Given the description of an element on the screen output the (x, y) to click on. 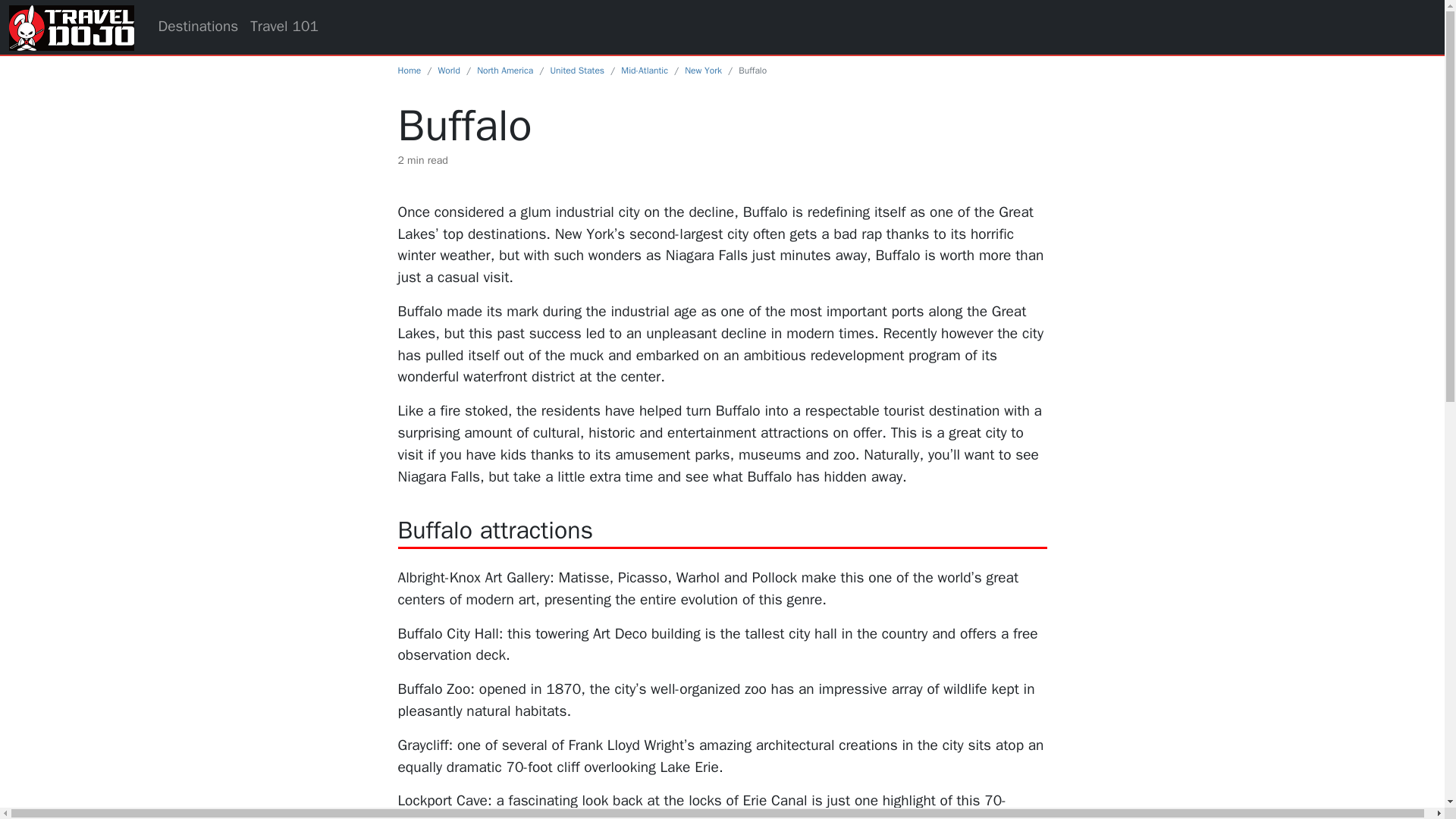
North America (504, 70)
Home (408, 70)
New York (703, 70)
United States (577, 70)
World (449, 70)
Travel 101 (284, 26)
Destinations (197, 26)
Mid-Atlantic (644, 70)
